Given the description of an element on the screen output the (x, y) to click on. 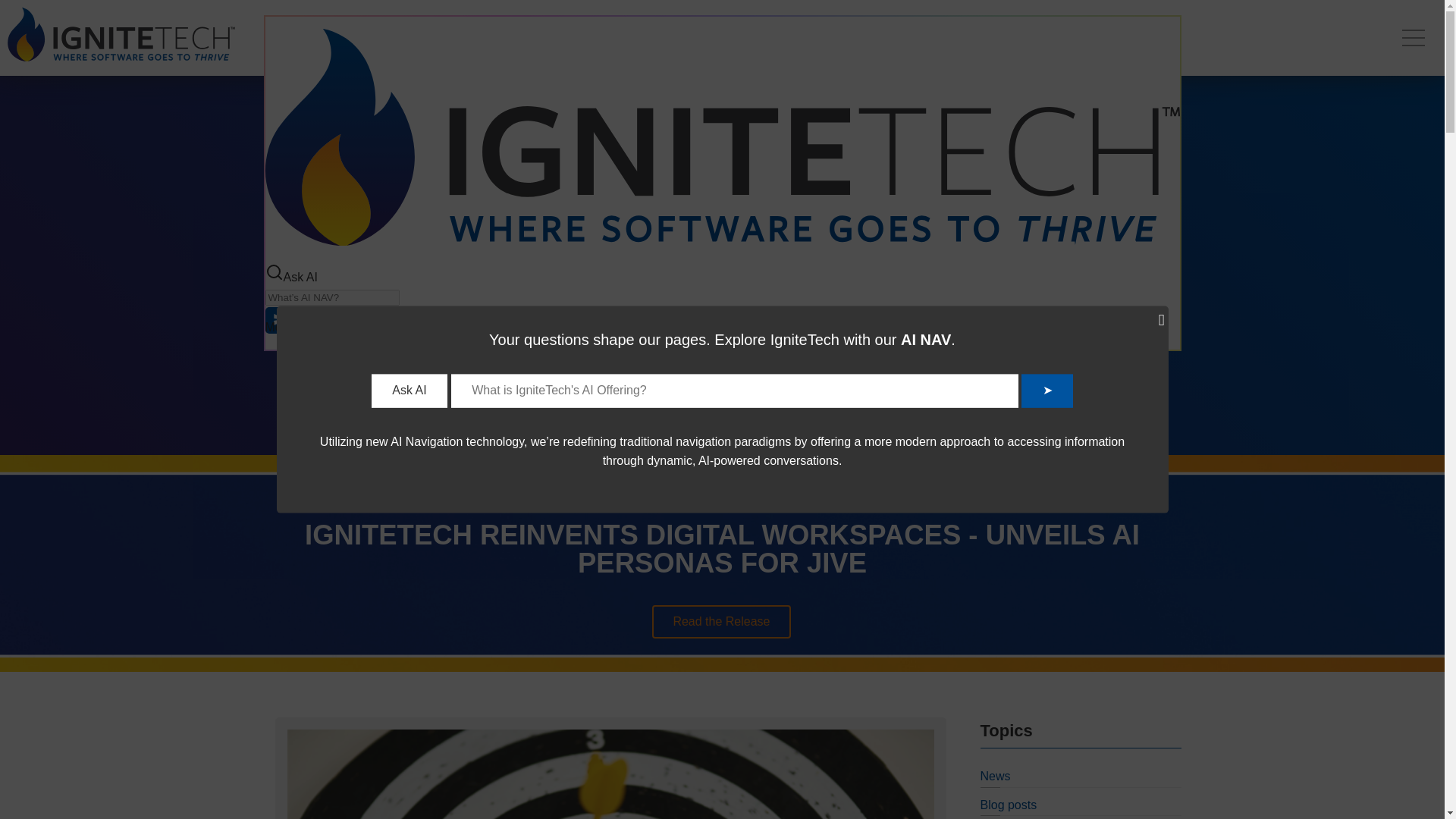
News (994, 775)
Read the Release (721, 621)
Blog posts (1007, 804)
